Given the description of an element on the screen output the (x, y) to click on. 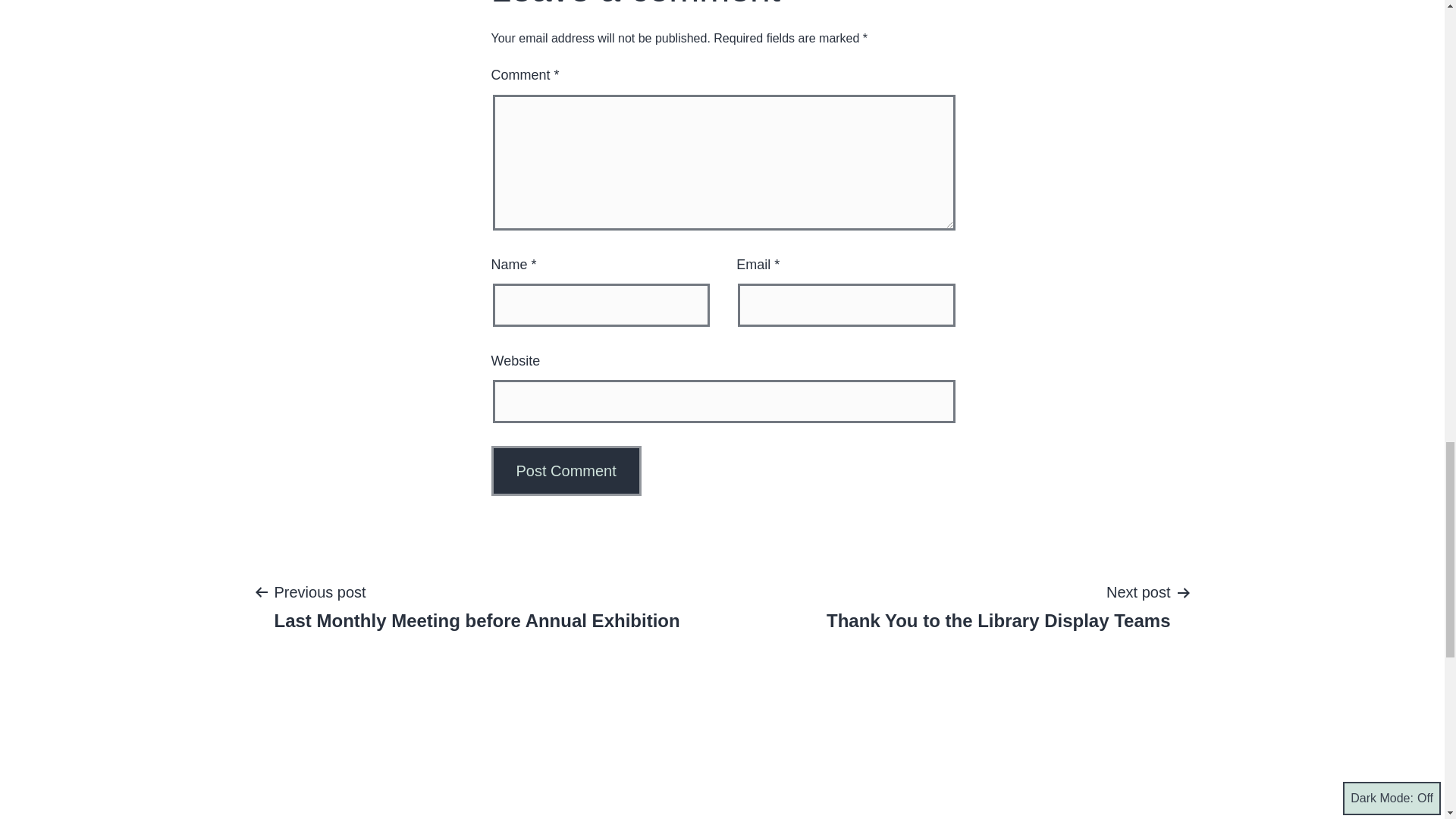
Post Comment (567, 470)
Post Comment (567, 470)
